Given the description of an element on the screen output the (x, y) to click on. 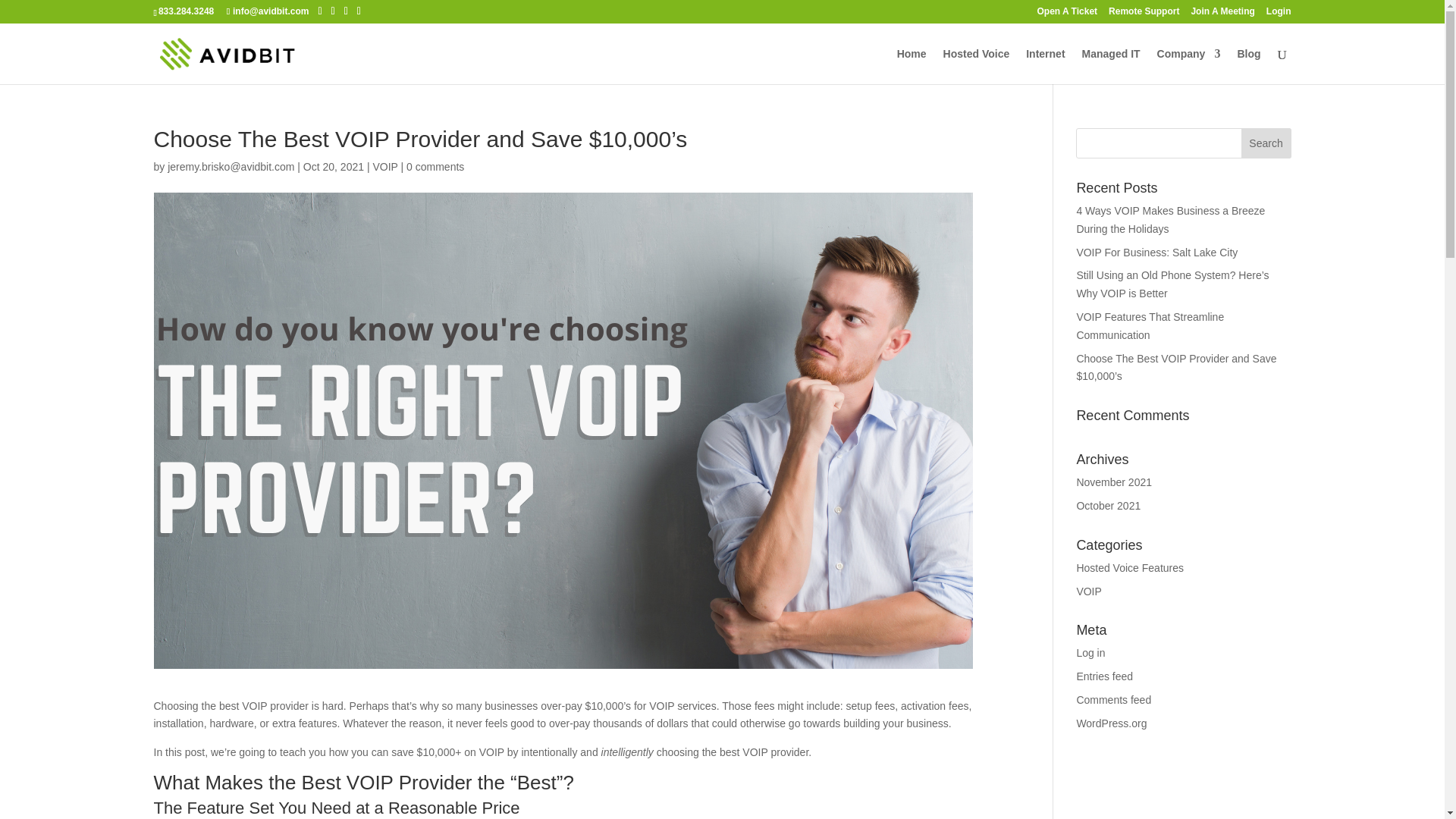
Join A Meeting (1222, 14)
Search (1266, 142)
Hosted Voice (976, 66)
VOIP (384, 166)
Login (1278, 14)
Managed IT (1110, 66)
Internet (1045, 66)
Open A Ticket (1066, 14)
Company (1189, 66)
Remote Support (1143, 14)
